Given the description of an element on the screen output the (x, y) to click on. 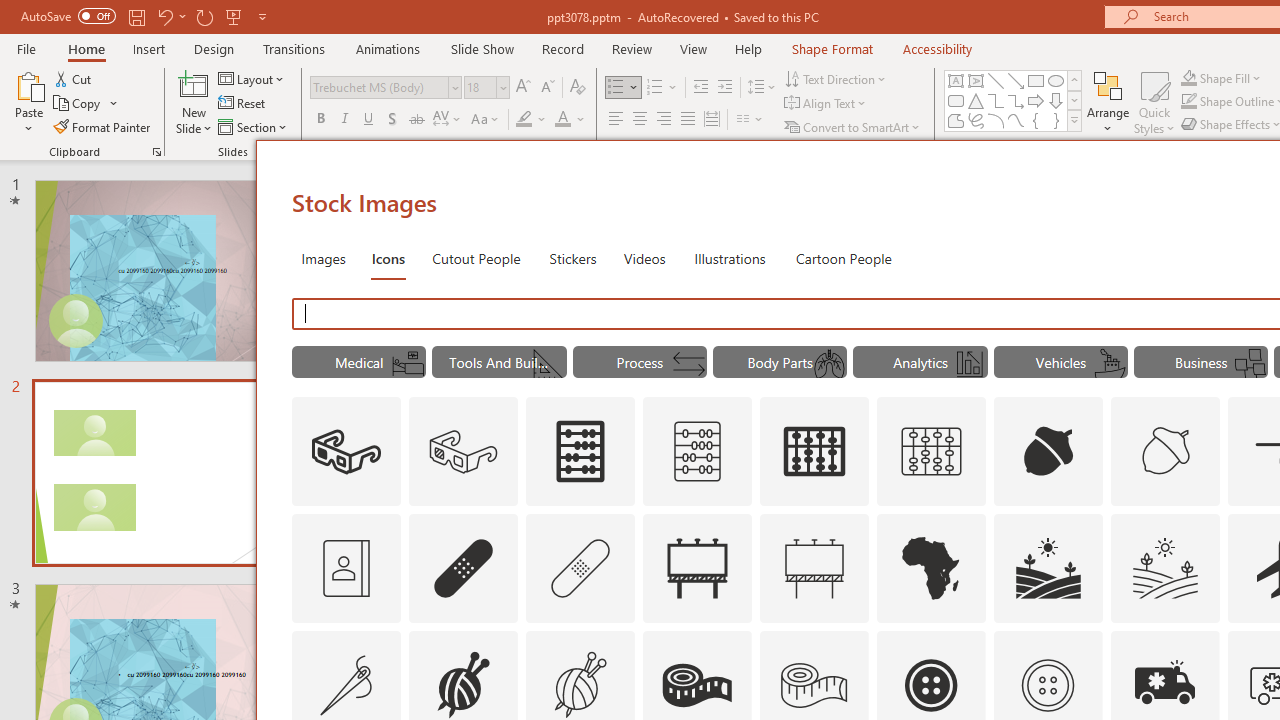
AutomationID: Icons_TriangleRuler_M (549, 364)
